Given the description of an element on the screen output the (x, y) to click on. 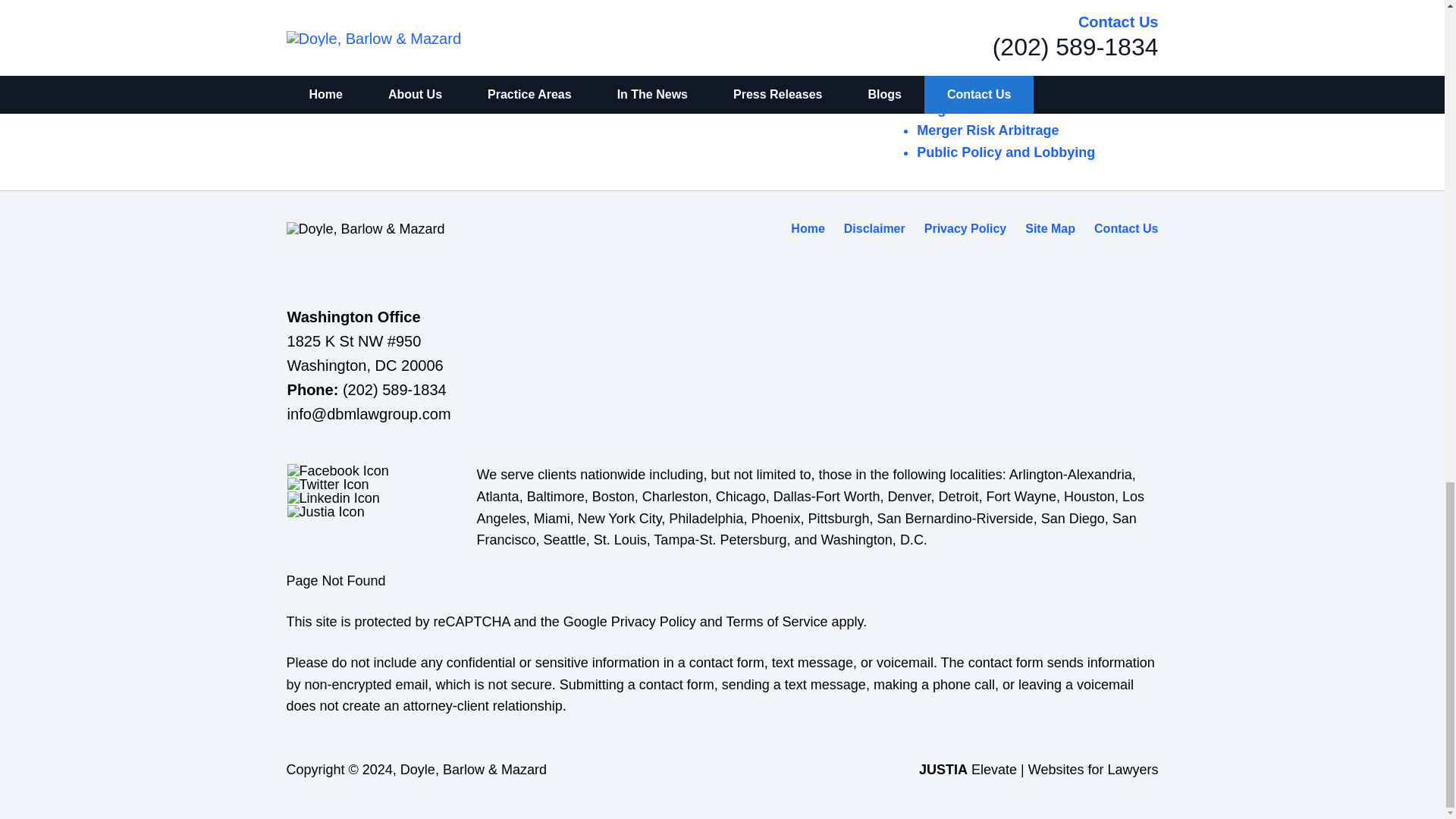
Facebook (337, 470)
Public Policy and Lobbying (1005, 151)
Litigation (947, 109)
Contact Us (1125, 228)
Privacy Policy (965, 228)
Justia (325, 511)
Anti-Dumping and CVD (992, 3)
Terms of Service (776, 621)
Antitrust (945, 20)
Twitter (327, 484)
International Trade (978, 87)
Hospitality Practice (980, 64)
Site Map (1050, 228)
Disclaimer (874, 228)
Merger Risk Arbitrage (987, 130)
